Given the description of an element on the screen output the (x, y) to click on. 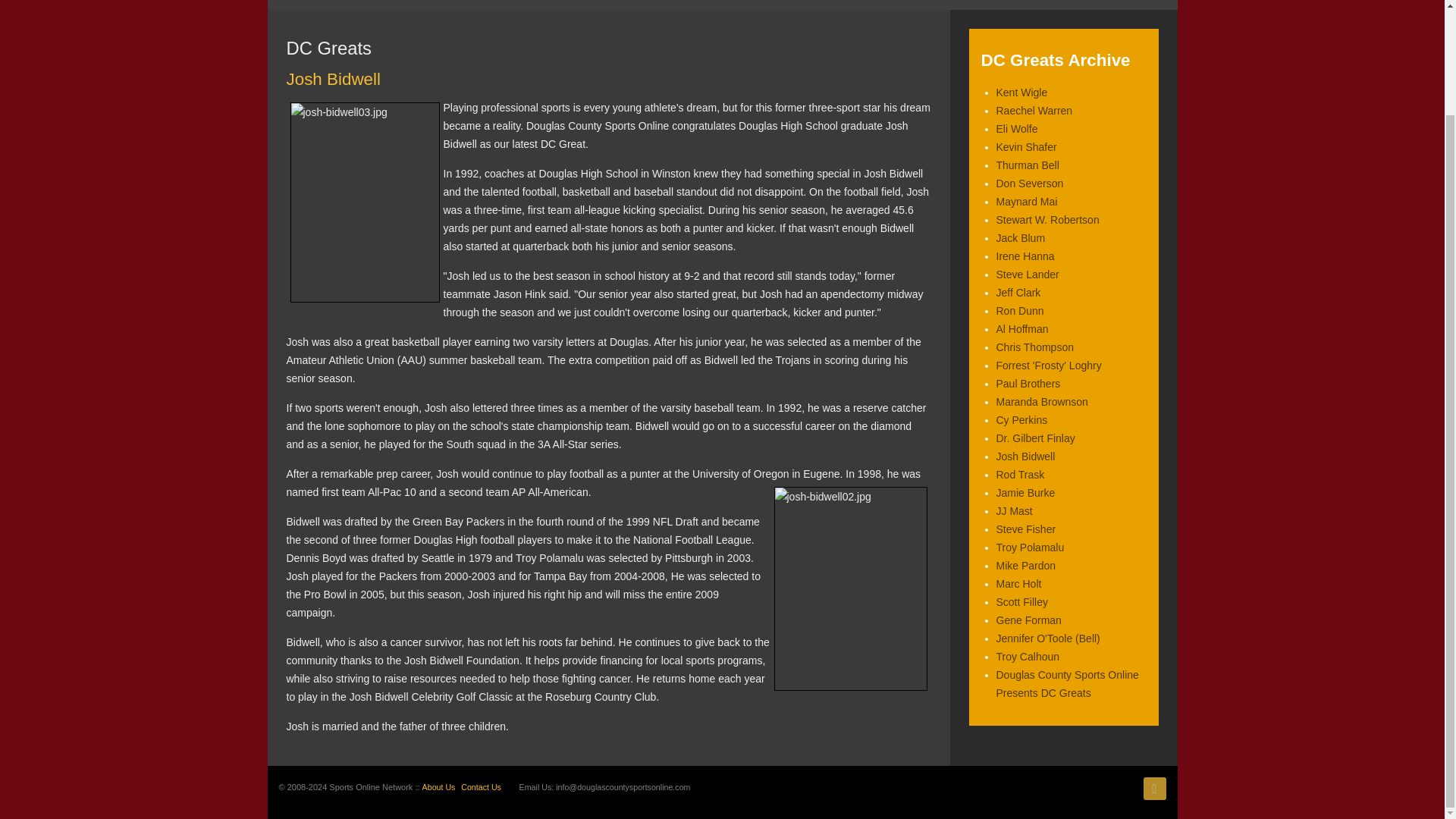
Sportsline (596, 4)
Kevin Shafer (1026, 146)
Maranda Brownson (1041, 401)
Mike Pardon (1026, 565)
Josh Bidwell (1025, 456)
Stewart W. Robertson (1047, 219)
Rod Trask (1020, 474)
Marc Holt (1018, 583)
Home (289, 4)
Videos (814, 4)
